Given the description of an element on the screen output the (x, y) to click on. 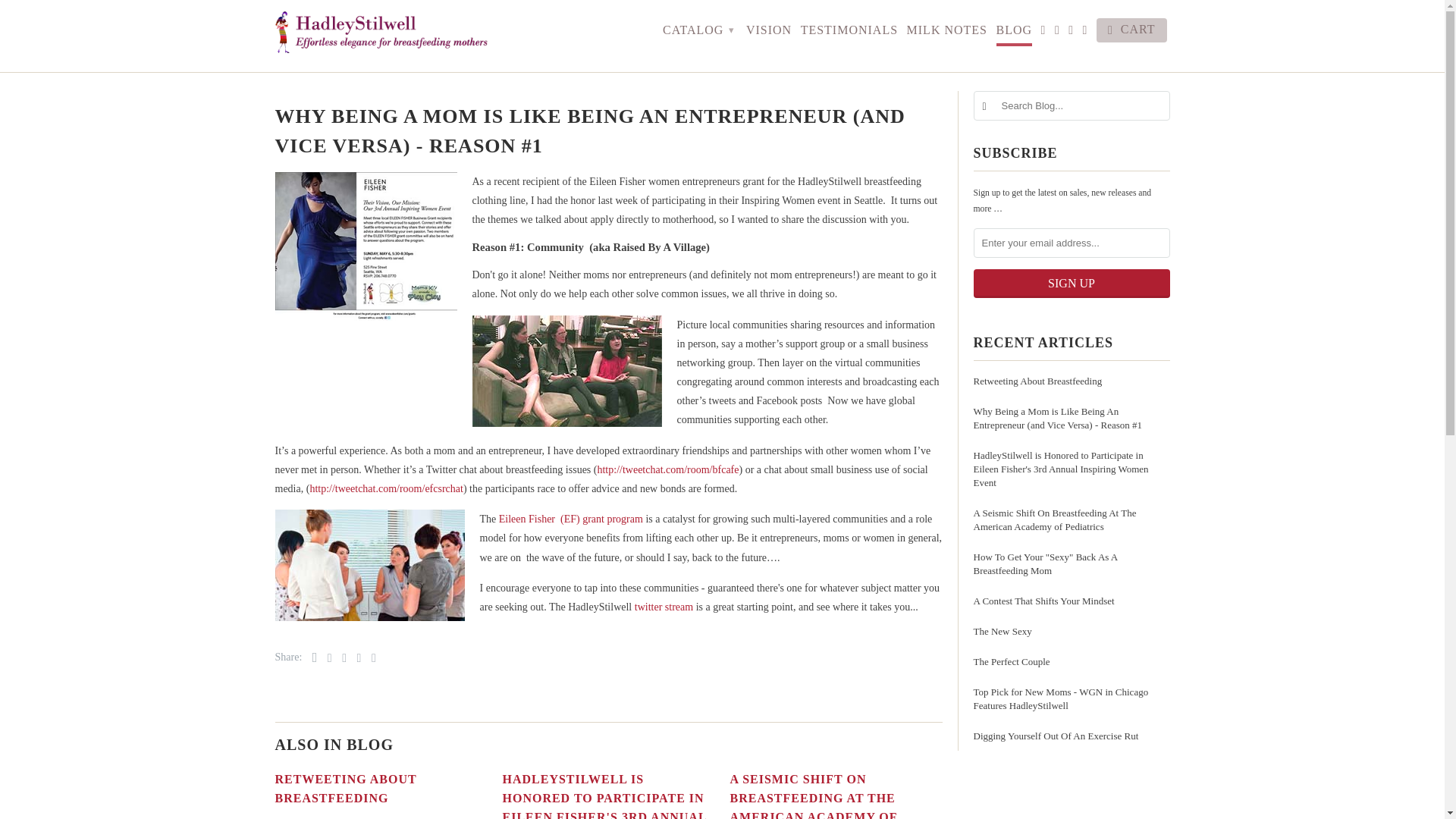
BLOG (1013, 33)
Sign Up (1072, 283)
Eileen Fisher Women Business Owner Grant Program (571, 518)
Share this on Facebook (325, 657)
Share this on Pinterest (340, 657)
Eileen Fisher Social Media Chat (385, 488)
twitter stream (663, 606)
Retweeting About Breastfeeding (345, 788)
